Given the description of an element on the screen output the (x, y) to click on. 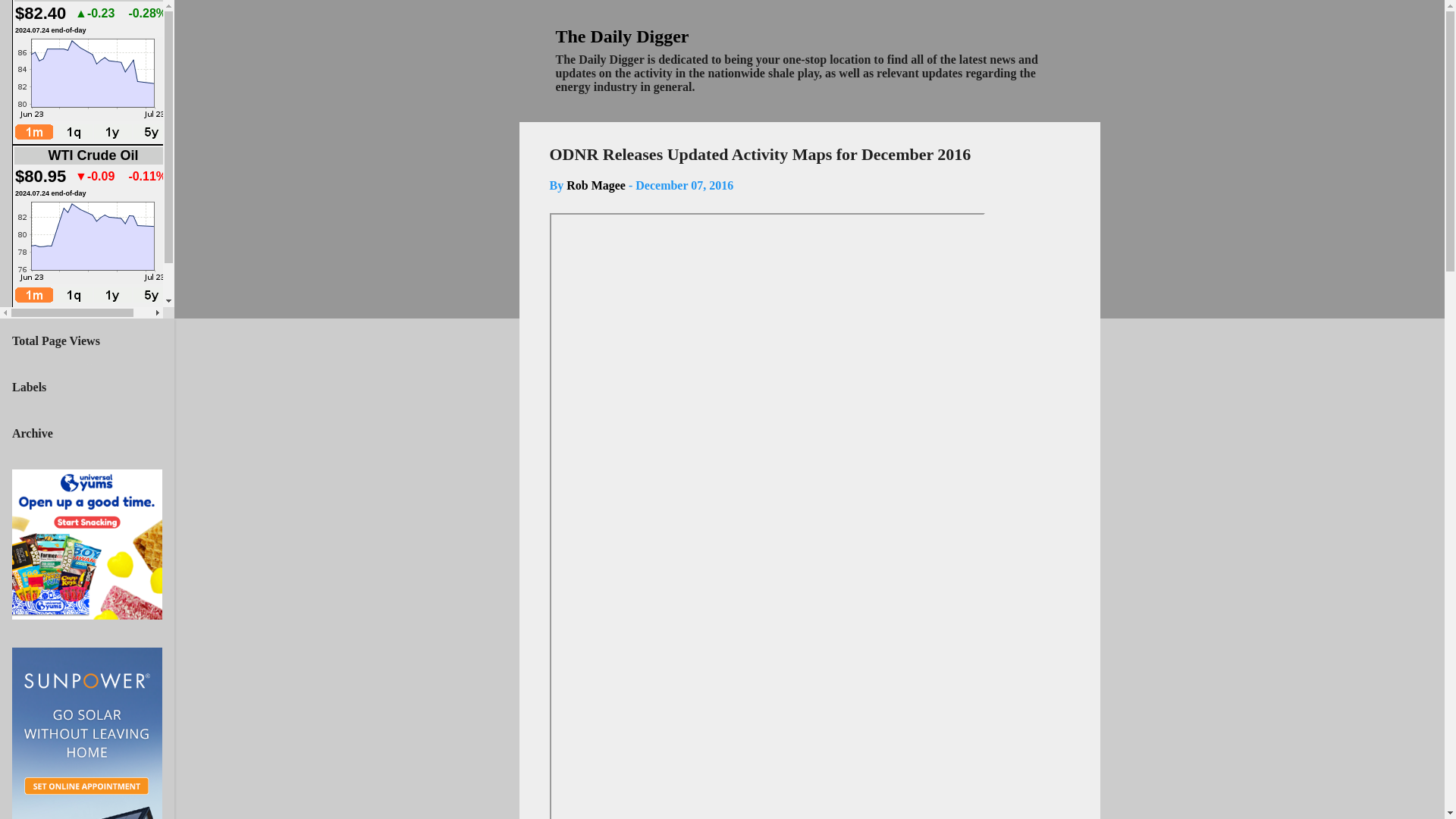
author profile (596, 185)
The Daily Digger (621, 35)
permanent link (683, 185)
December 07, 2016 (683, 185)
Rob Magee (596, 185)
Search (31, 18)
